Given the description of an element on the screen output the (x, y) to click on. 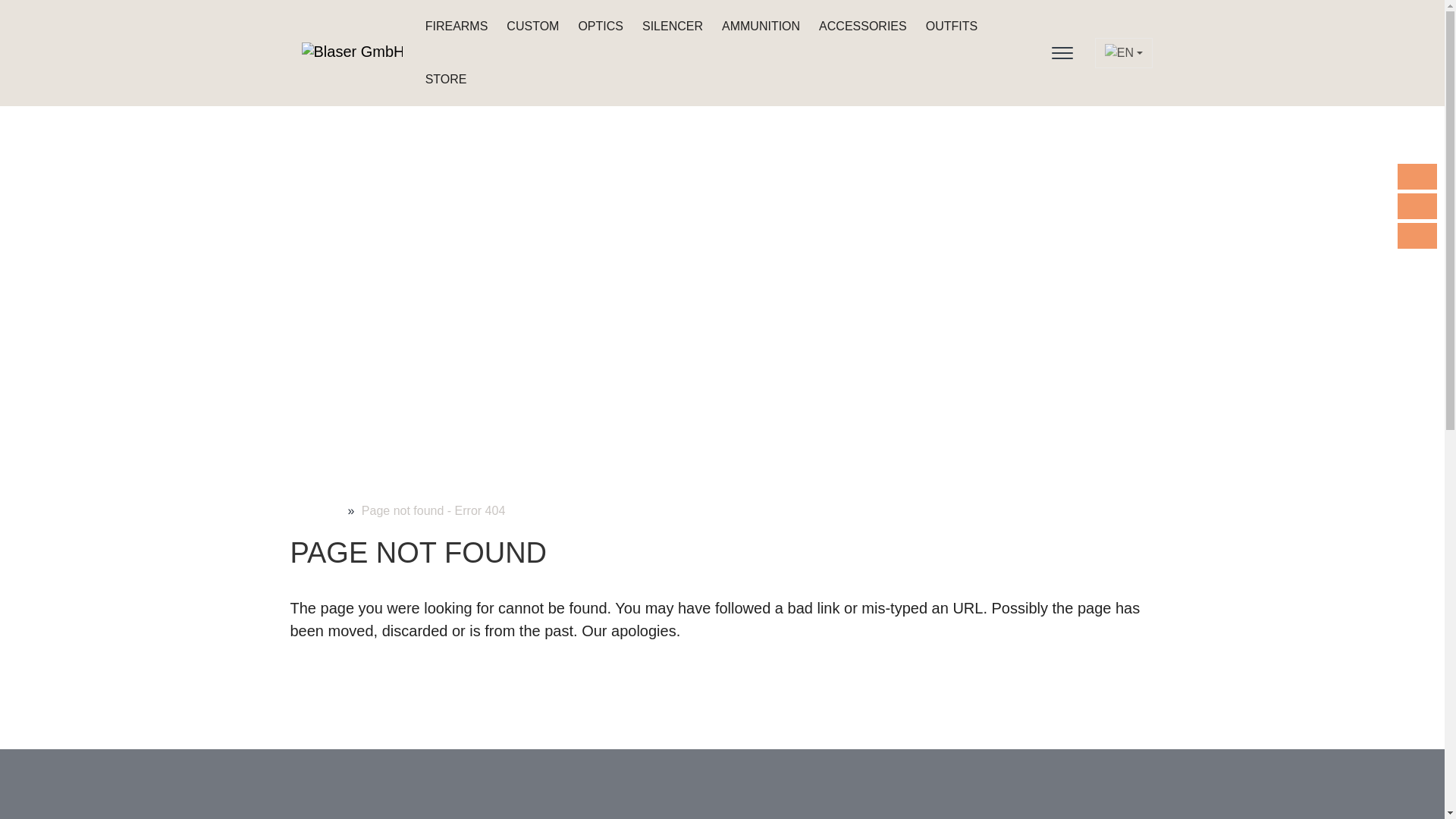
Firearms (454, 26)
SILENCER (670, 26)
Custom (530, 26)
AMMUNITION (759, 26)
OPTICS (598, 26)
FIREARMS (454, 26)
CUSTOM (530, 26)
